Given the description of an element on the screen output the (x, y) to click on. 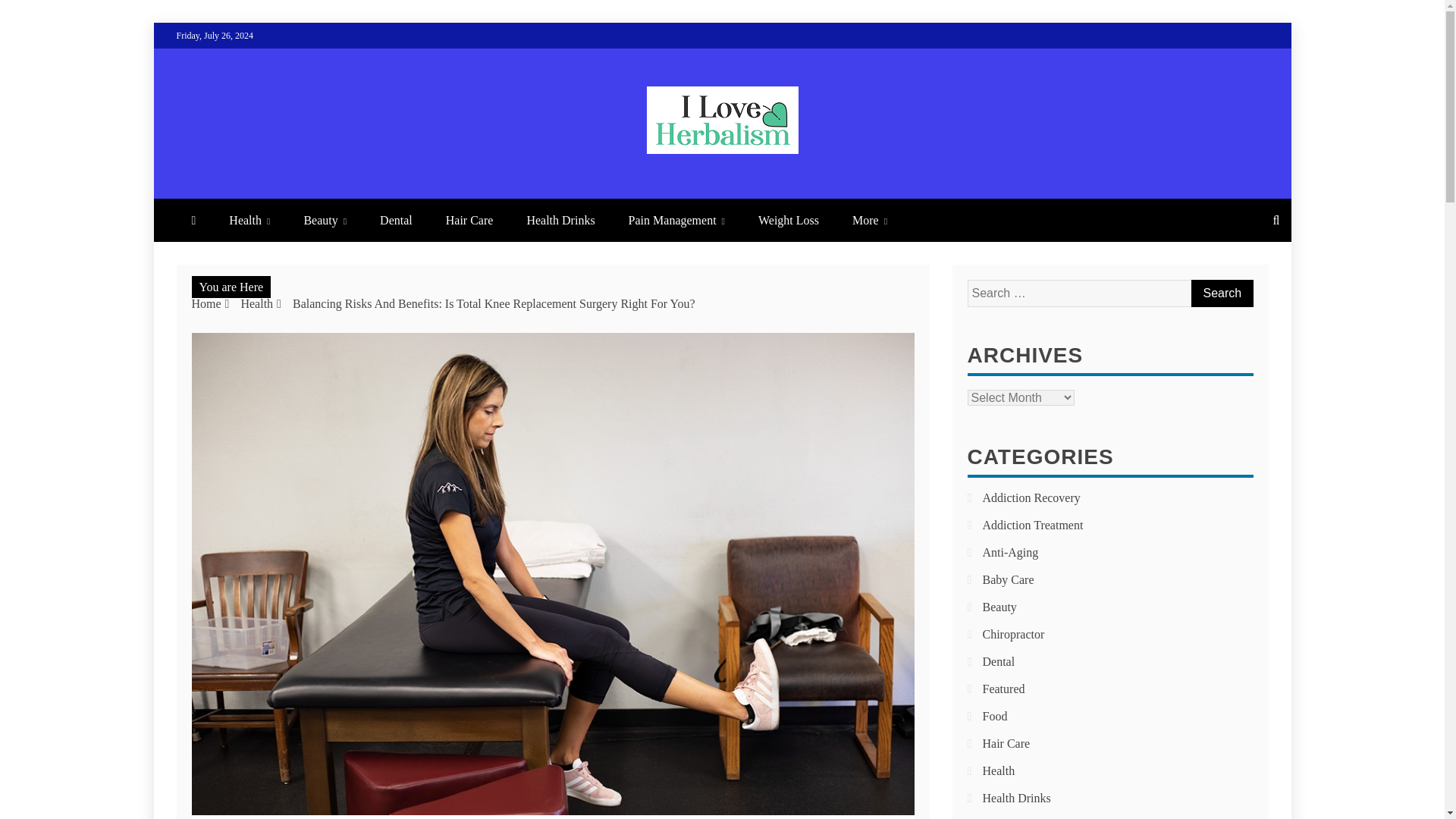
Home (205, 303)
Search (1221, 293)
Pain Management (675, 220)
Dental (396, 220)
Health Drinks (560, 220)
Addiction Treatment (1032, 524)
Beauty (324, 220)
Search (1221, 293)
Health (249, 220)
Hair Care (469, 220)
Weight Loss (788, 220)
More (869, 220)
Addiction Recovery (1031, 497)
Health (256, 303)
